Given the description of an element on the screen output the (x, y) to click on. 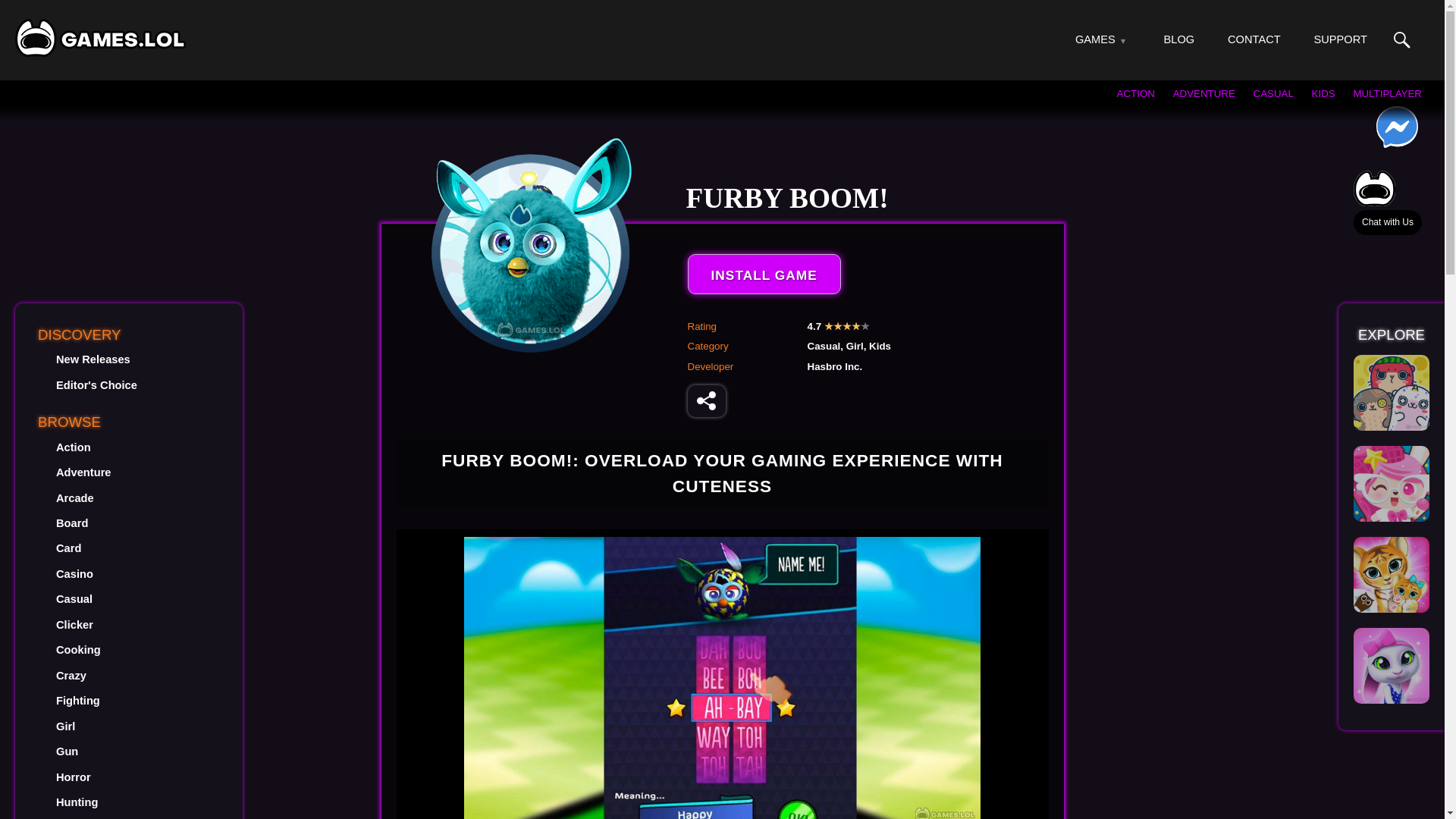
Action (73, 447)
CONTACT (1254, 39)
KIDS (1323, 93)
GAMES (1095, 39)
CASUAL (1273, 93)
Play Happy Pet Story: Virtual Pet Game on PC (1391, 483)
MULTIPLAYER (1387, 93)
SUPPORT (1340, 39)
New Releases (93, 358)
ADVENTURE (1203, 93)
